Given the description of an element on the screen output the (x, y) to click on. 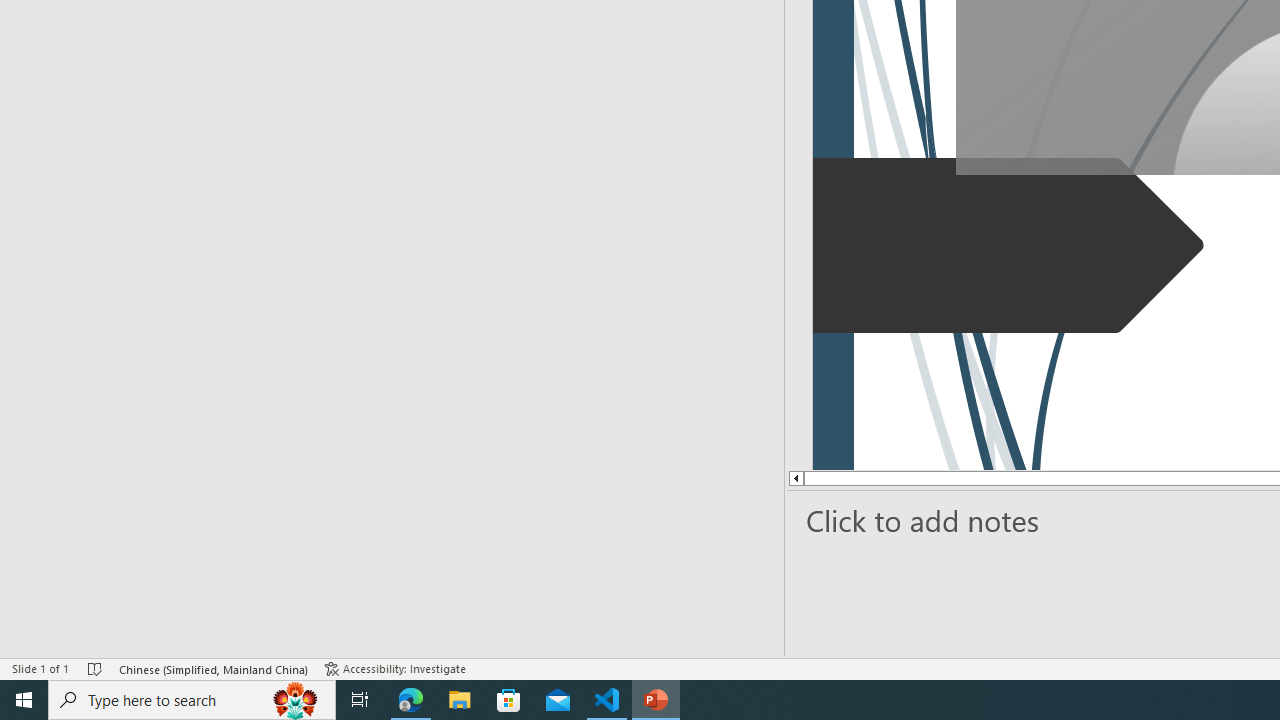
Page up (868, 478)
